Given the description of an element on the screen output the (x, y) to click on. 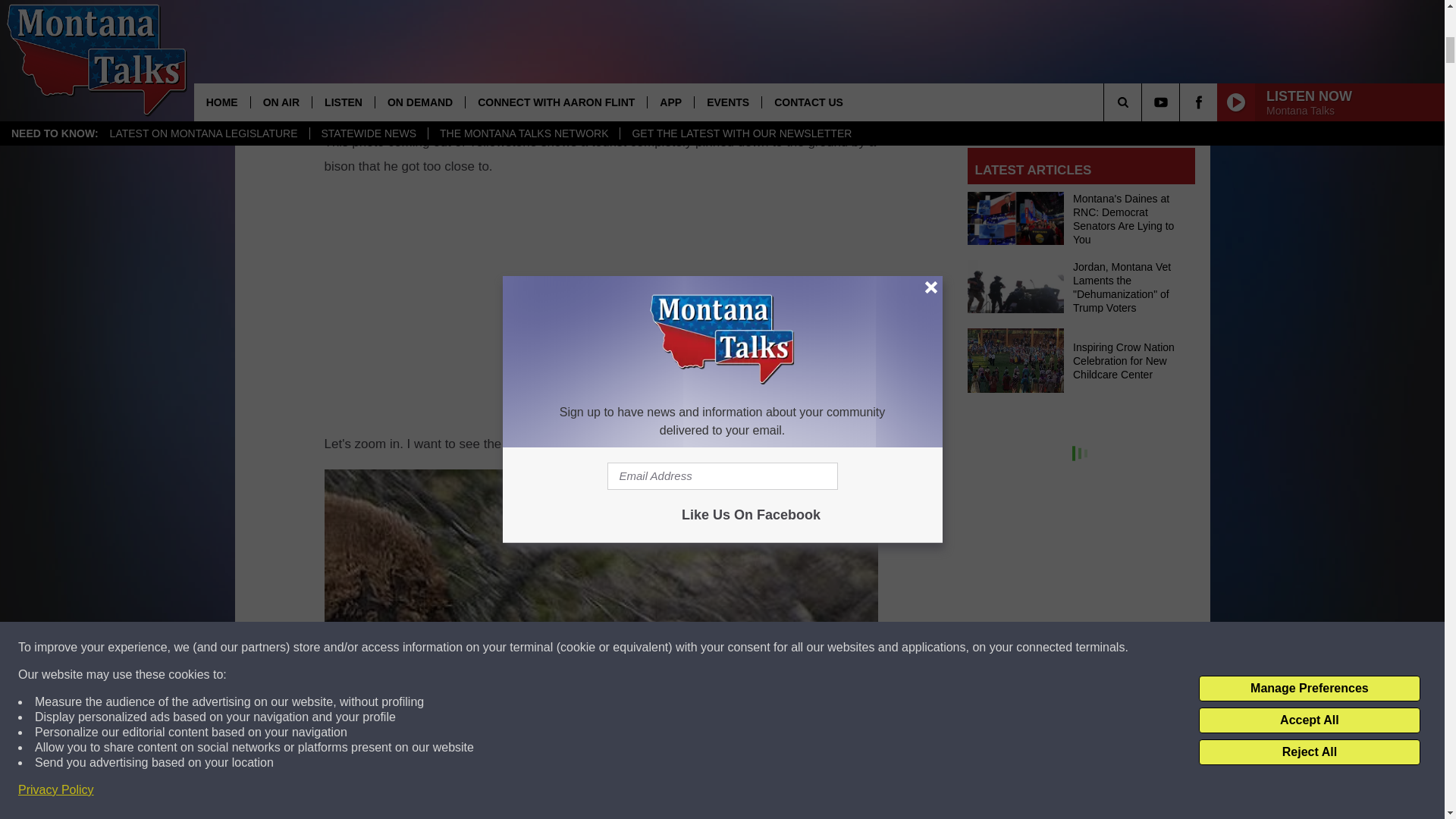
Email Address (1080, 103)
